Given the description of an element on the screen output the (x, y) to click on. 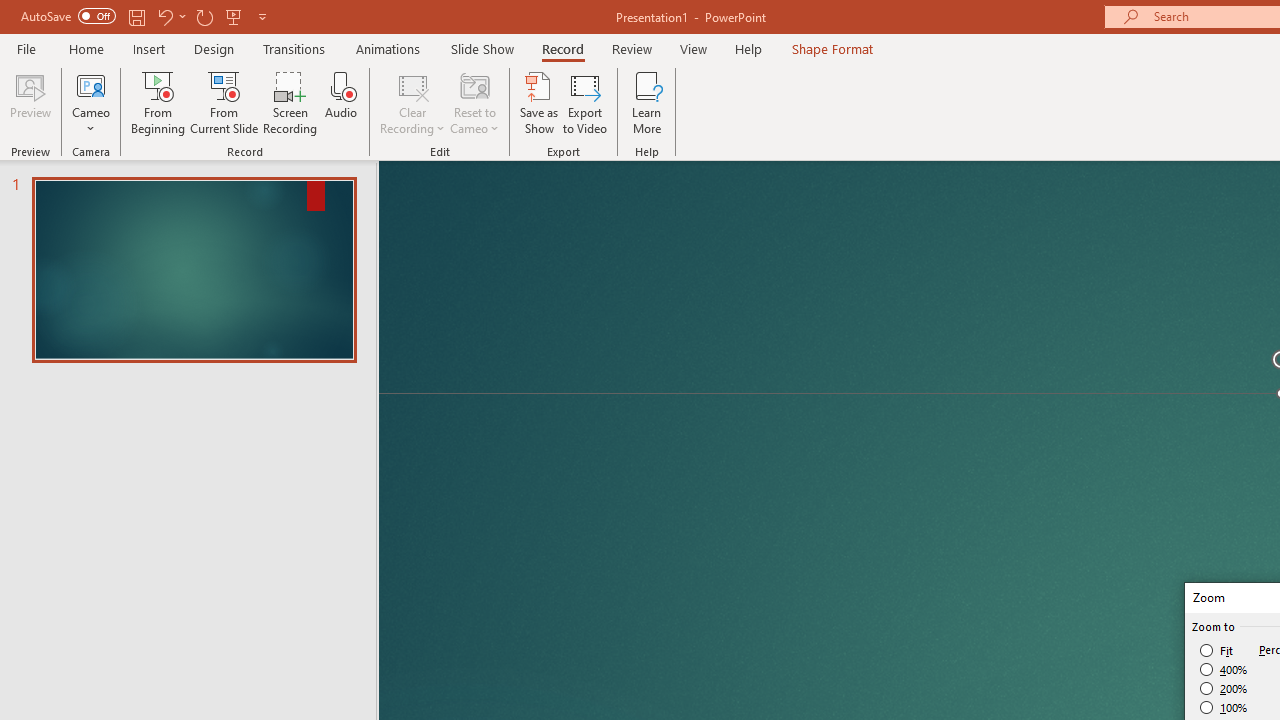
Learn More (646, 102)
From Current Slide... (224, 102)
Audio (341, 102)
